Given the description of an element on the screen output the (x, y) to click on. 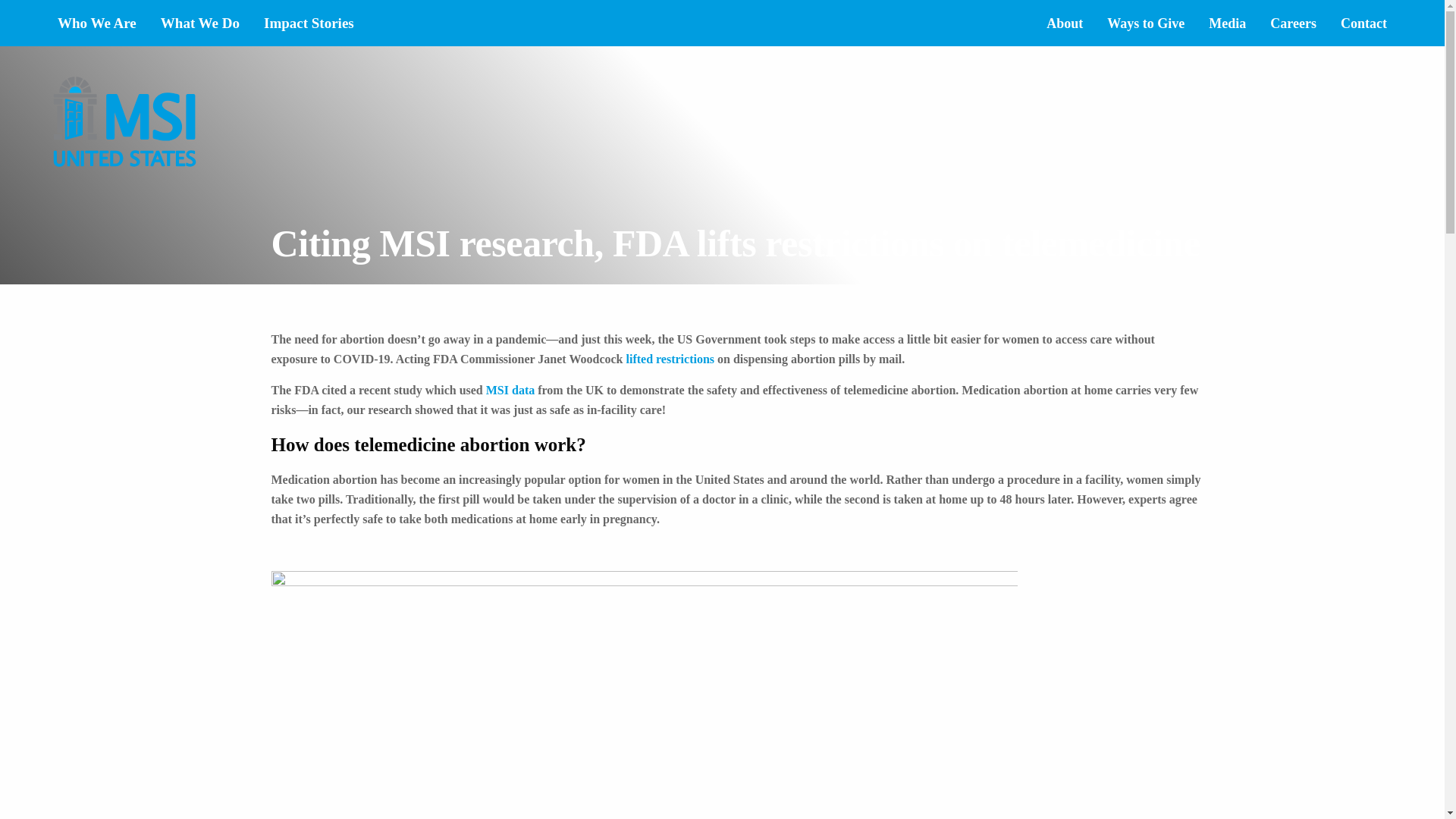
Careers (1292, 22)
Contact (1363, 22)
Ways to Give (1145, 22)
Impact Stories (308, 22)
About (1063, 22)
Media (1226, 22)
What We Do (199, 22)
Who We Are (96, 22)
